Given the description of an element on the screen output the (x, y) to click on. 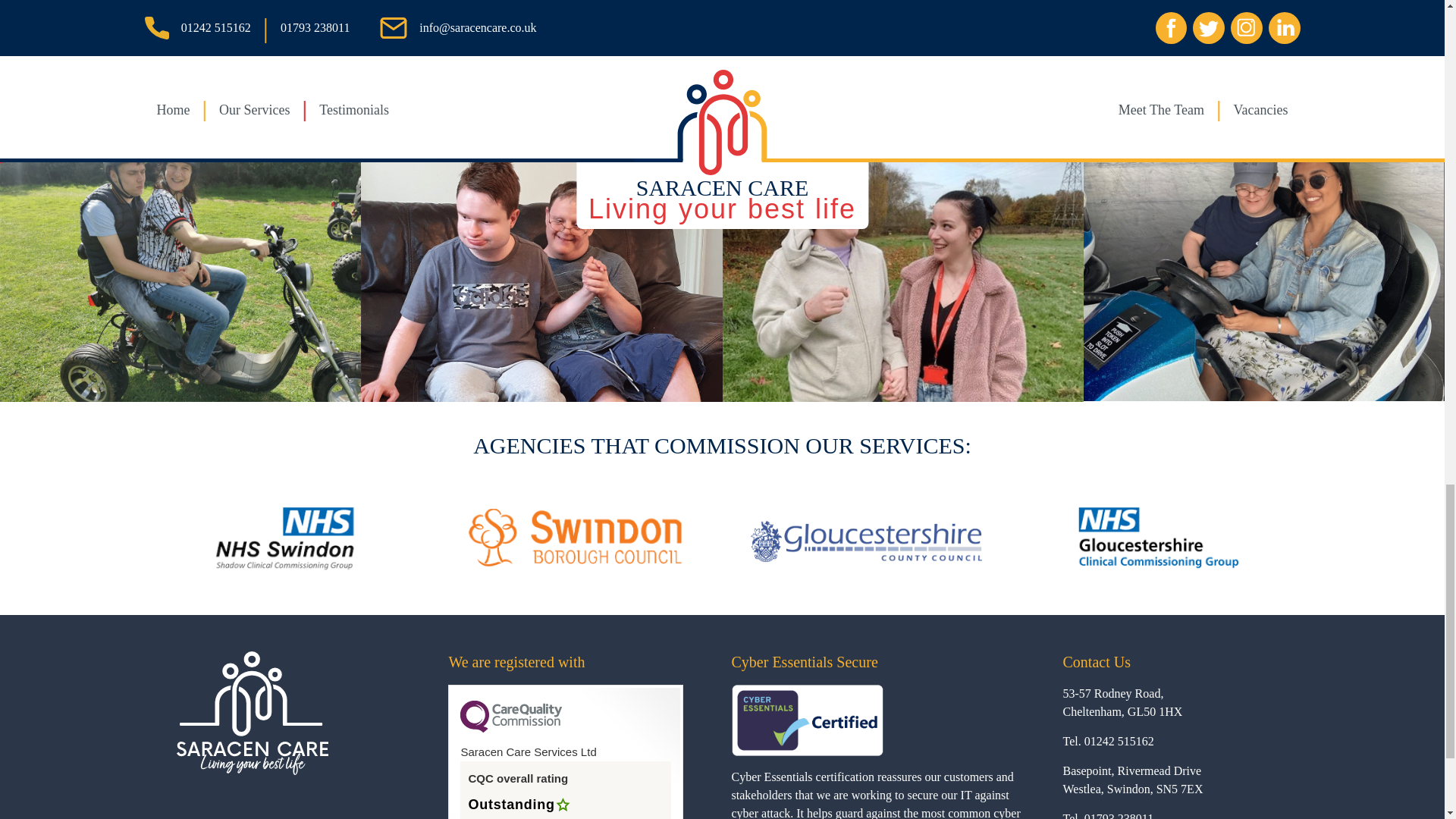
01242 515162 (1119, 740)
CQC Logo (511, 728)
Apply Now (268, 7)
